Given the description of an element on the screen output the (x, y) to click on. 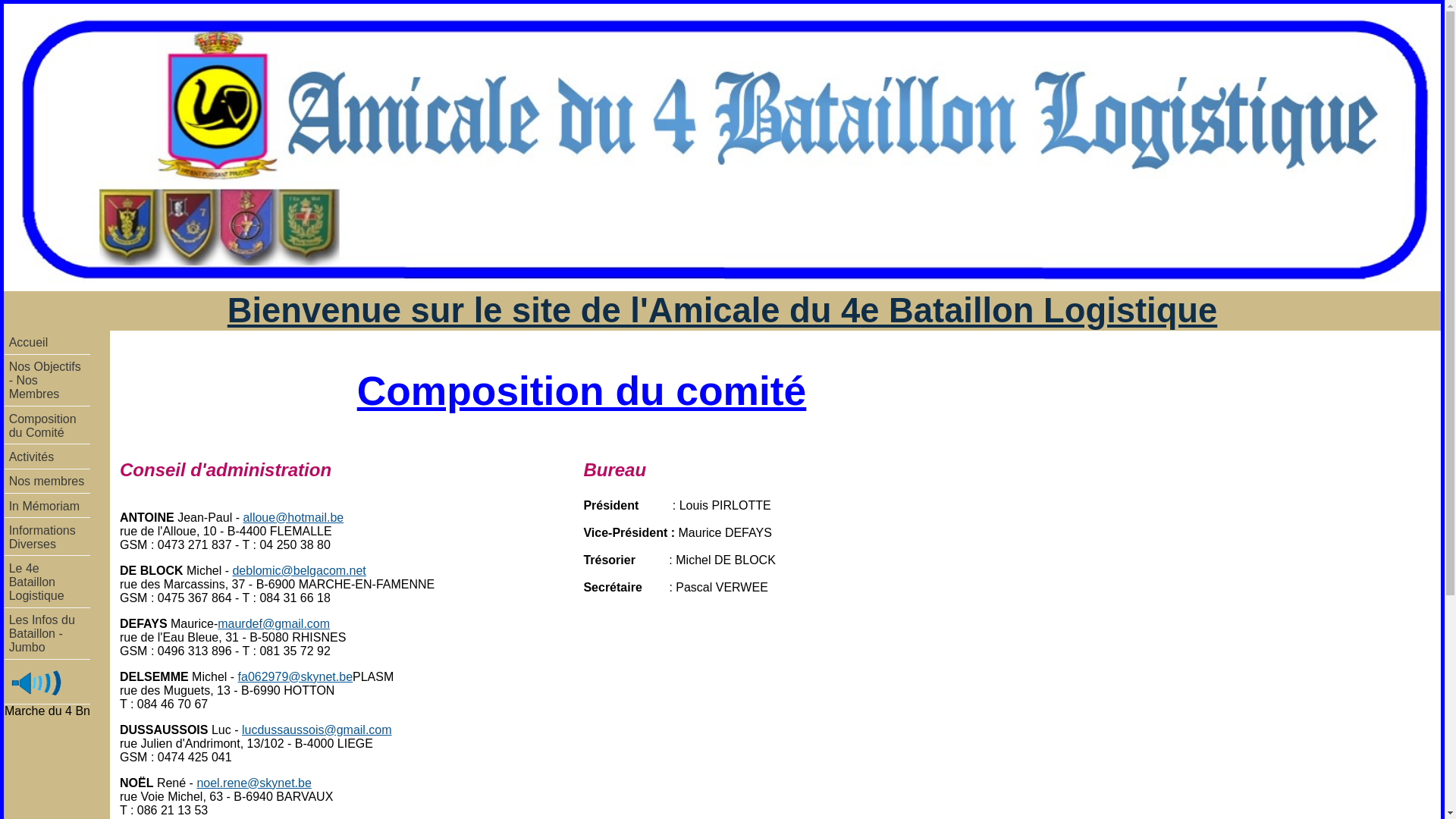
Le 4e Bataillon Logistique Element type: text (47, 582)
alloue@hotmail.be Element type: text (292, 517)
noel.rene@skynet.be Element type: text (253, 782)
Nos Objectifs - Nos Membres Element type: text (47, 381)
fa062979@skynet.be Element type: text (295, 676)
lucdussaussois@gmail.com Element type: text (316, 729)
Informations Diverses Element type: text (47, 537)
Nos membres Element type: text (47, 481)
Les Infos du Bataillon - Jumbo Element type: text (47, 634)
Accueil Element type: text (47, 342)
maurdef@gmail.com Element type: text (273, 623)
deblomic@belgacom.net Element type: text (298, 570)
